Given the description of an element on the screen output the (x, y) to click on. 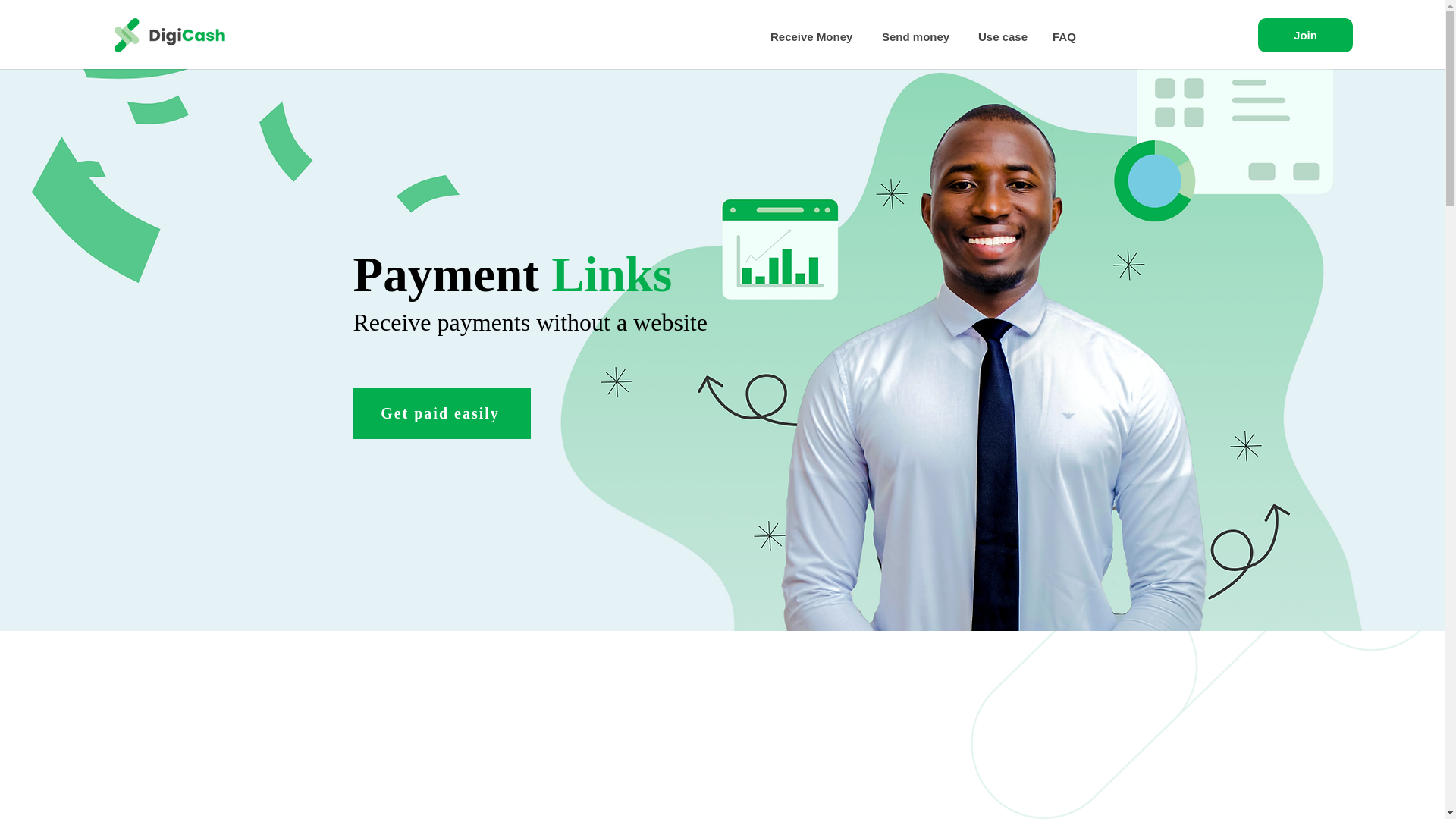
Get paid easily (442, 413)
Send money (918, 37)
Join (1304, 35)
Receive Money (814, 37)
Use case (1003, 37)
FAQ (1065, 37)
